Given the description of an element on the screen output the (x, y) to click on. 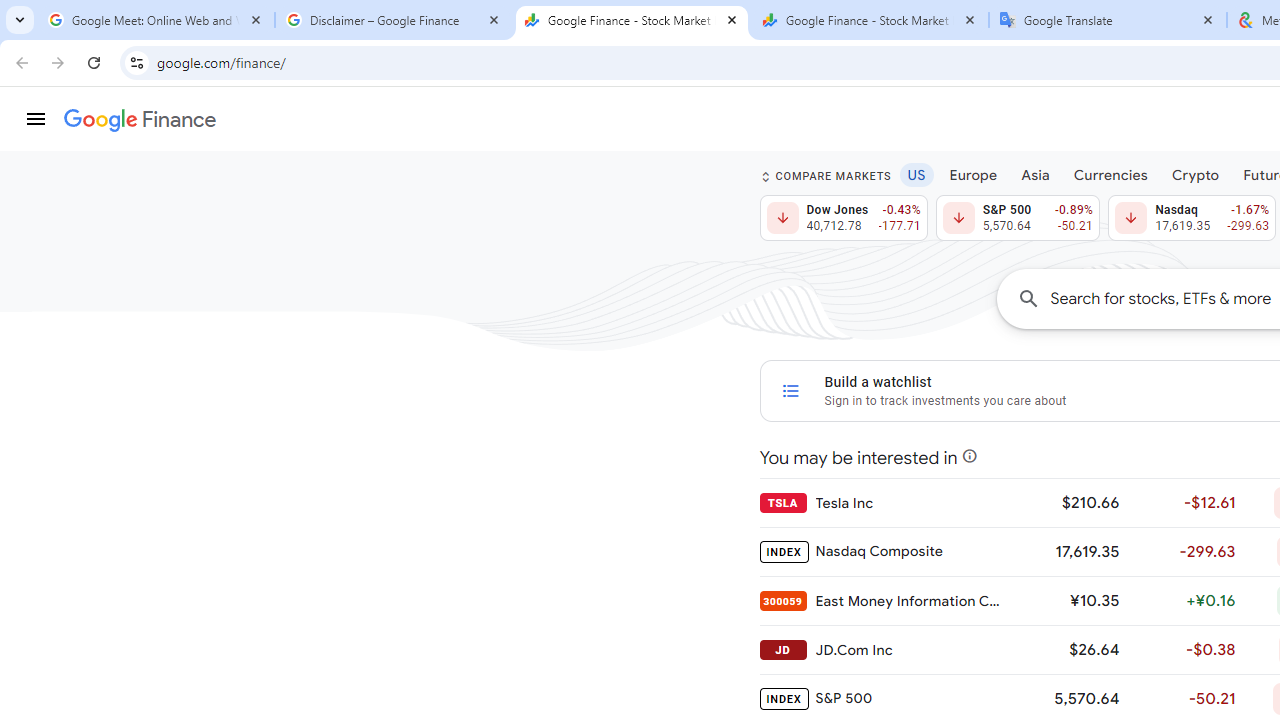
COMPARE MARKETS (825, 176)
Finance (140, 120)
US (916, 174)
Currencies (1109, 174)
S&P 500 5,570.64 Down by 0.89% -50.21 (1017, 218)
Europe (973, 174)
Google Translate (1108, 20)
Crypto (1195, 174)
